Given the description of an element on the screen output the (x, y) to click on. 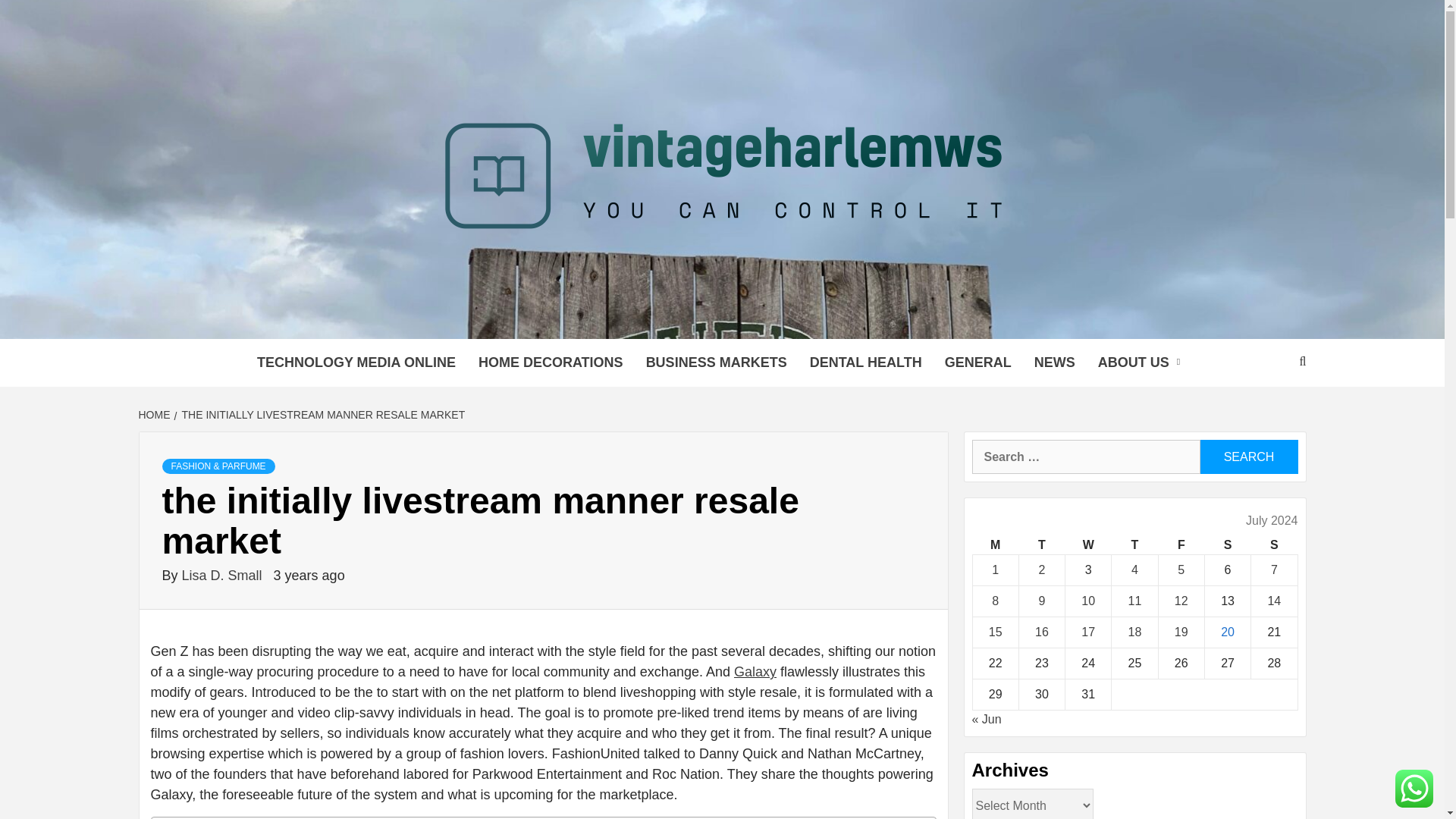
NEWS (1054, 362)
Galaxy (754, 671)
Search (1248, 456)
ABOUT US (1142, 362)
Search (1248, 456)
TECHNOLOGY MEDIA ONLINE (356, 362)
Search (1248, 456)
HOME DECORATIONS (550, 362)
VINTAGEHARLEMWS (530, 319)
Friday (1180, 545)
BUSINESS MARKETS (715, 362)
Lisa D. Small (224, 575)
GENERAL (978, 362)
Monday (994, 545)
Tuesday (1040, 545)
